Given the description of an element on the screen output the (x, y) to click on. 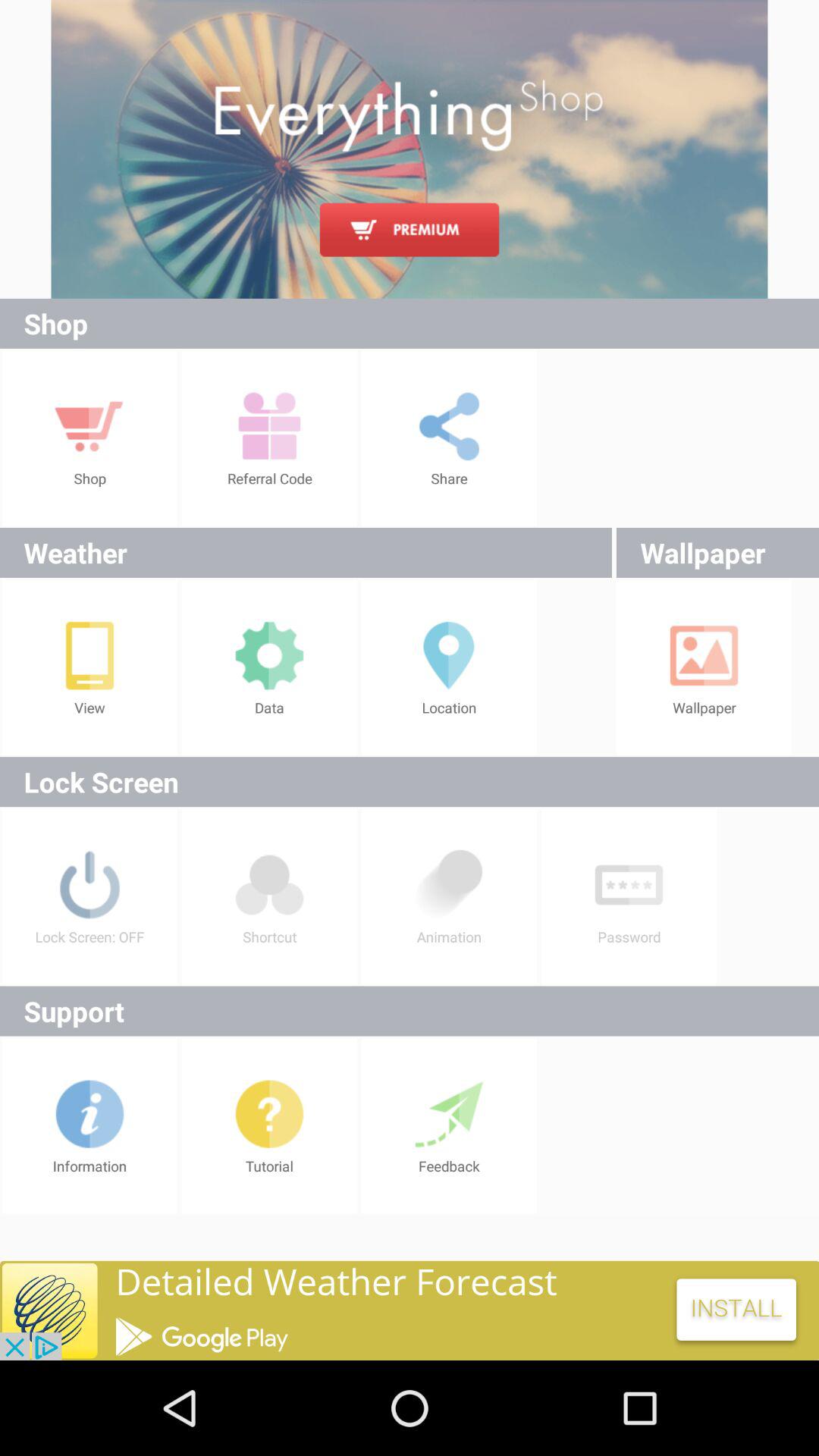
advertisement at bottom (409, 1310)
